Given the description of an element on the screen output the (x, y) to click on. 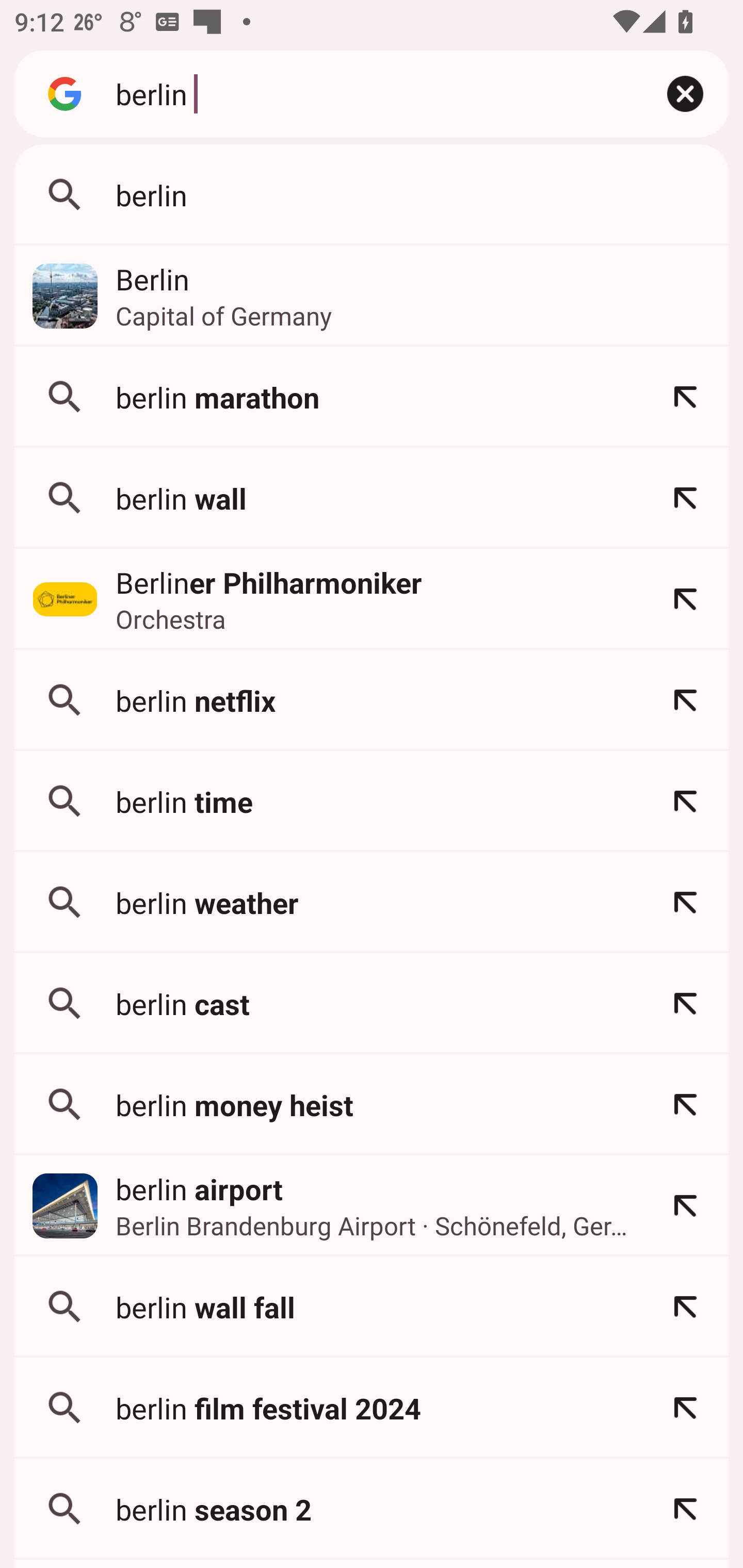
Clear input (684, 93)
berlin  (367, 92)
berlin (371, 195)
Berlin Capital of Germany (371, 296)
berlin marathon Refine: berlin marathon (371, 397)
Refine: berlin marathon (684, 397)
berlin wall Refine: berlin wall (371, 498)
Refine: berlin wall (684, 498)
Refine: berlin philharmonic (684, 598)
berlin netflix Refine: berlin netflix (371, 700)
Refine: berlin netflix (684, 700)
berlin time Refine: berlin time (371, 801)
Refine: berlin time (684, 801)
berlin weather Refine: berlin weather (371, 902)
Refine: berlin weather (684, 902)
berlin cast Refine: berlin cast (371, 1003)
Refine: berlin cast (684, 1003)
berlin money heist Refine: berlin money heist (371, 1104)
Refine: berlin money heist (684, 1104)
Refine: berlin airport (684, 1205)
berlin wall fall Refine: berlin wall fall (371, 1306)
Refine: berlin wall fall (684, 1306)
Refine: berlin film festival 2024 (684, 1407)
berlin season 2 Refine: berlin season 2 (371, 1509)
Refine: berlin season 2 (684, 1509)
